Given the description of an element on the screen output the (x, y) to click on. 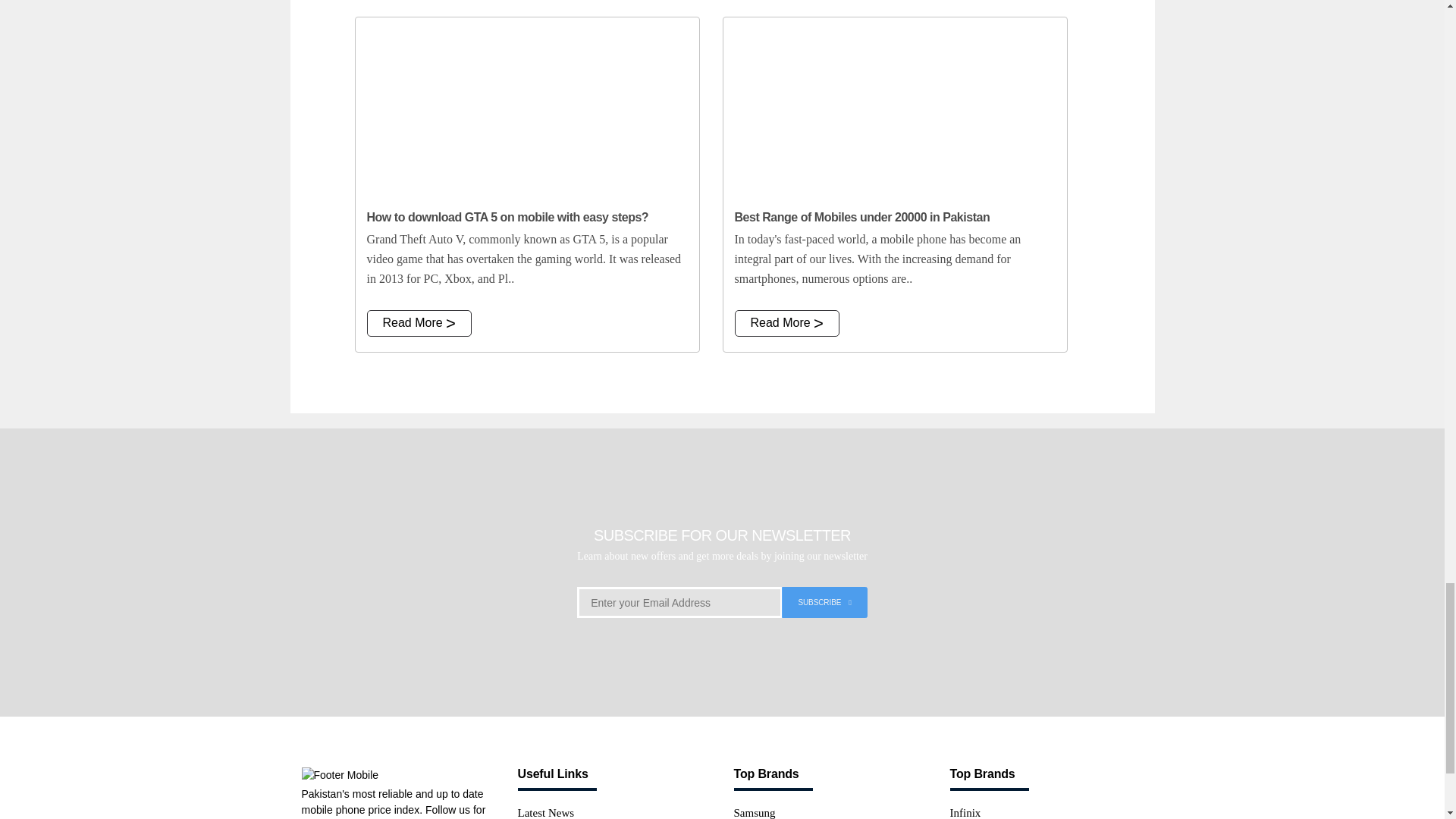
Best Range of Mobiles under 20000 in Pakistan (895, 108)
How to download GTA 5 on mobile with easy steps? (526, 108)
